Given the description of an element on the screen output the (x, y) to click on. 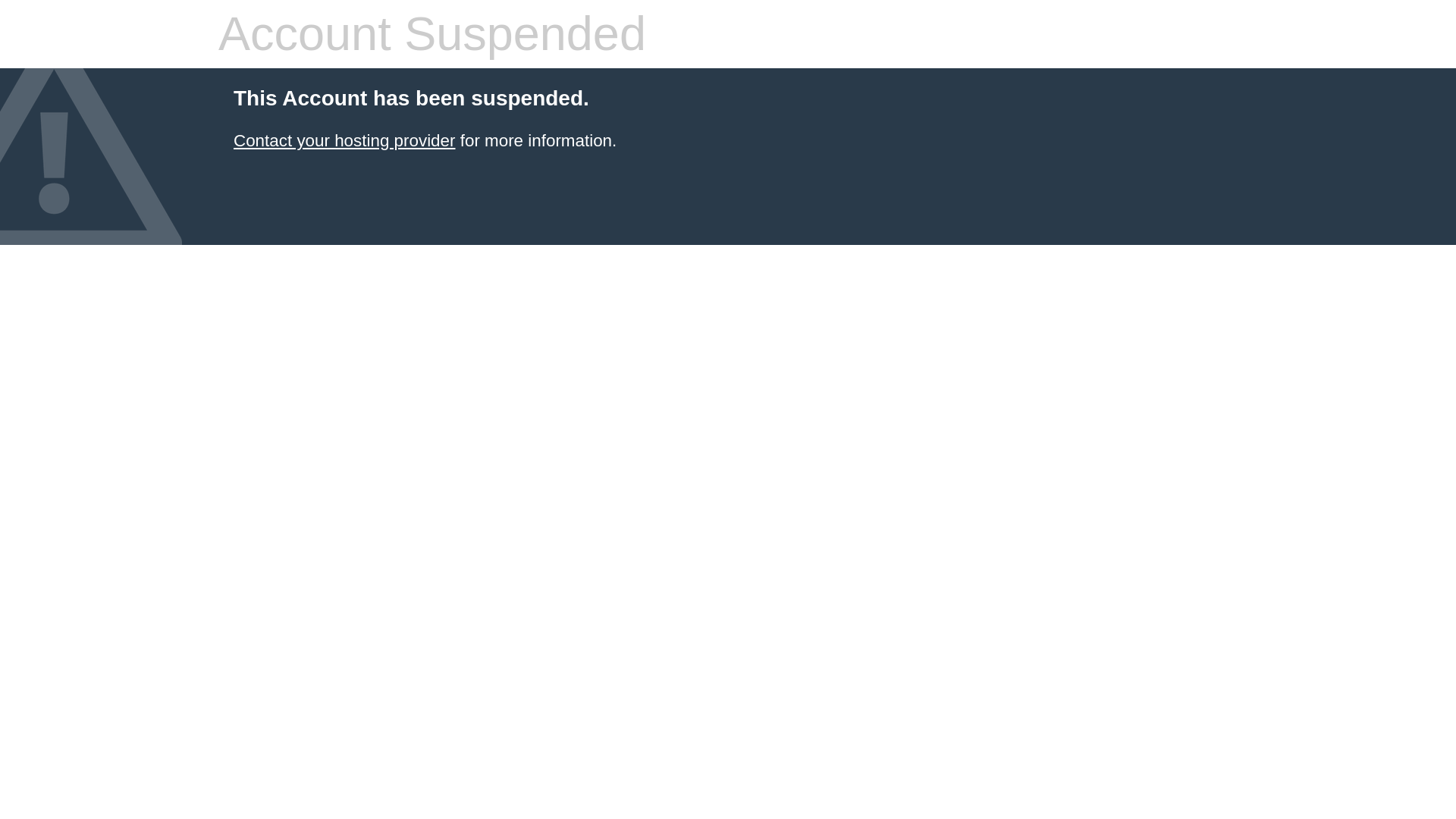
Contact your hosting provider (343, 140)
